Given the description of an element on the screen output the (x, y) to click on. 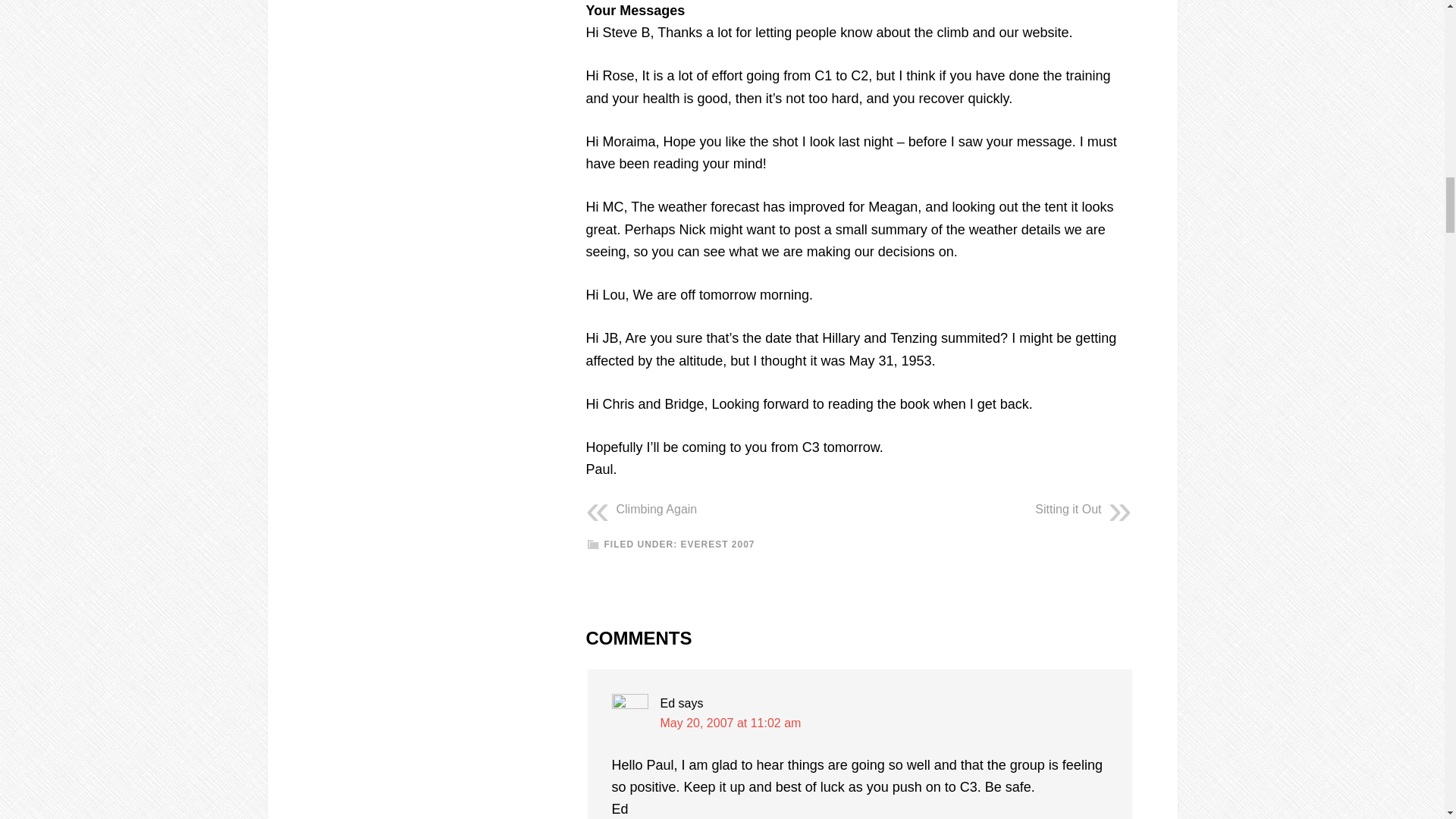
May 20, 2007 at 11:02 am (729, 722)
EVEREST 2007 (718, 543)
Climbing Again (656, 508)
Sitting it Out (1067, 508)
